Given the description of an element on the screen output the (x, y) to click on. 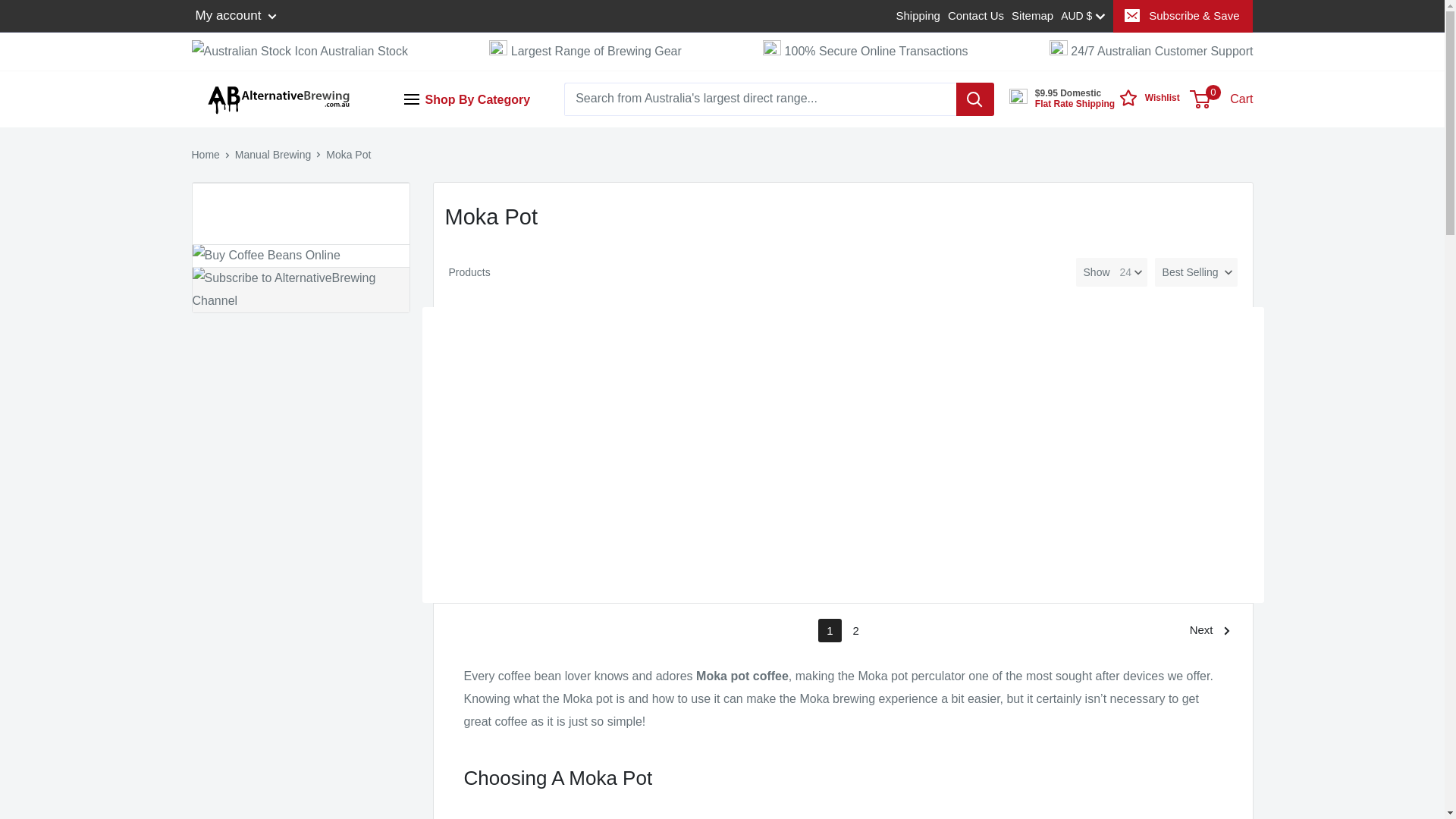
Navigate to page 2 (855, 630)
GBP (1103, 171)
IDR (1103, 192)
My account (236, 15)
AUD (1103, 61)
Shipping (918, 15)
Search (249, 22)
Contact Us (975, 15)
SGD (1103, 215)
Manual Brewing (272, 154)
